Given the description of an element on the screen output the (x, y) to click on. 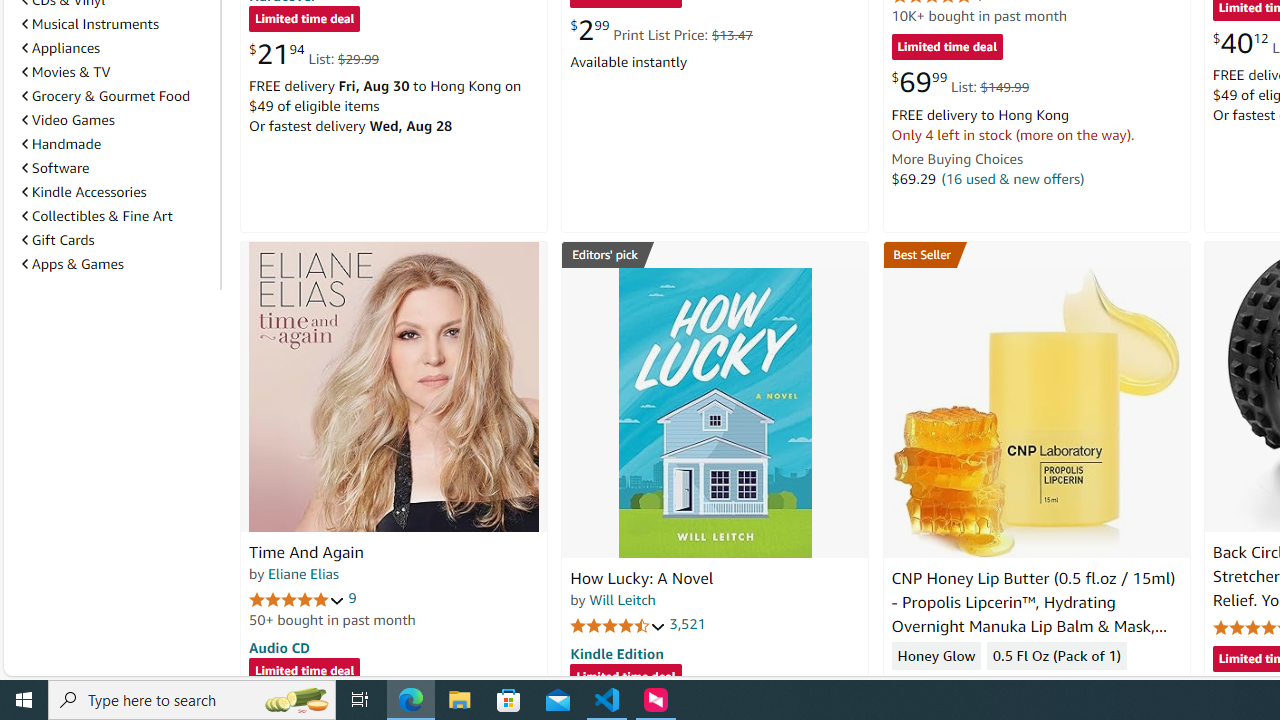
Musical Instruments (117, 23)
$69.99 List: $149.99 (960, 82)
Handmade (117, 143)
Kindle Accessories (117, 192)
Appliances (61, 47)
Video Games (117, 120)
Grocery & Gourmet Food (105, 96)
Movies & TV (117, 71)
Musical Instruments (89, 24)
Kindle Edition (616, 653)
Kindle Accessories (84, 191)
Appliances (117, 48)
How Lucky: A Novel (641, 578)
$2.99 Print List Price: $13.47 (660, 30)
